Given the description of an element on the screen output the (x, y) to click on. 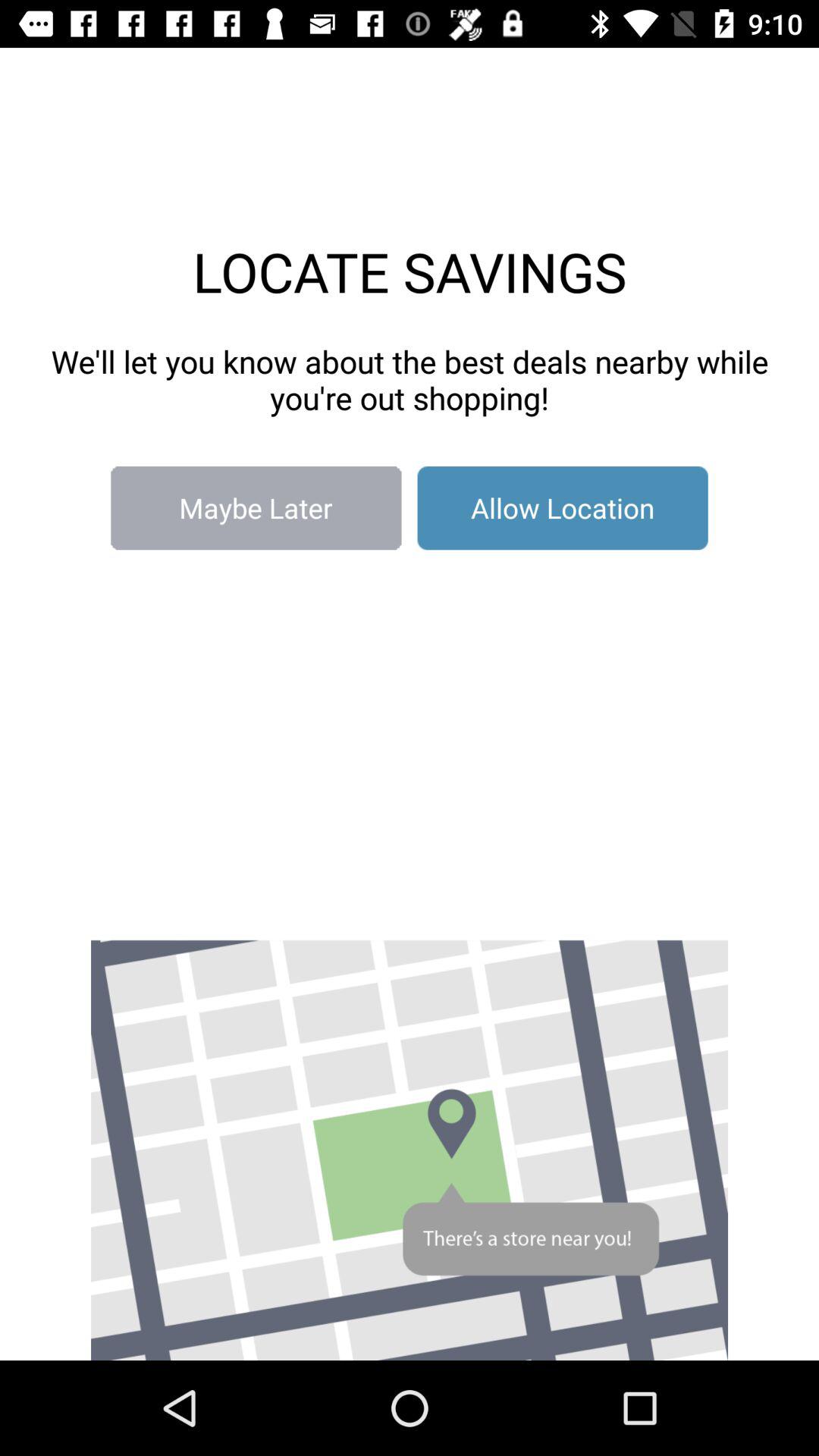
tap icon on the left (255, 507)
